Given the description of an element on the screen output the (x, y) to click on. 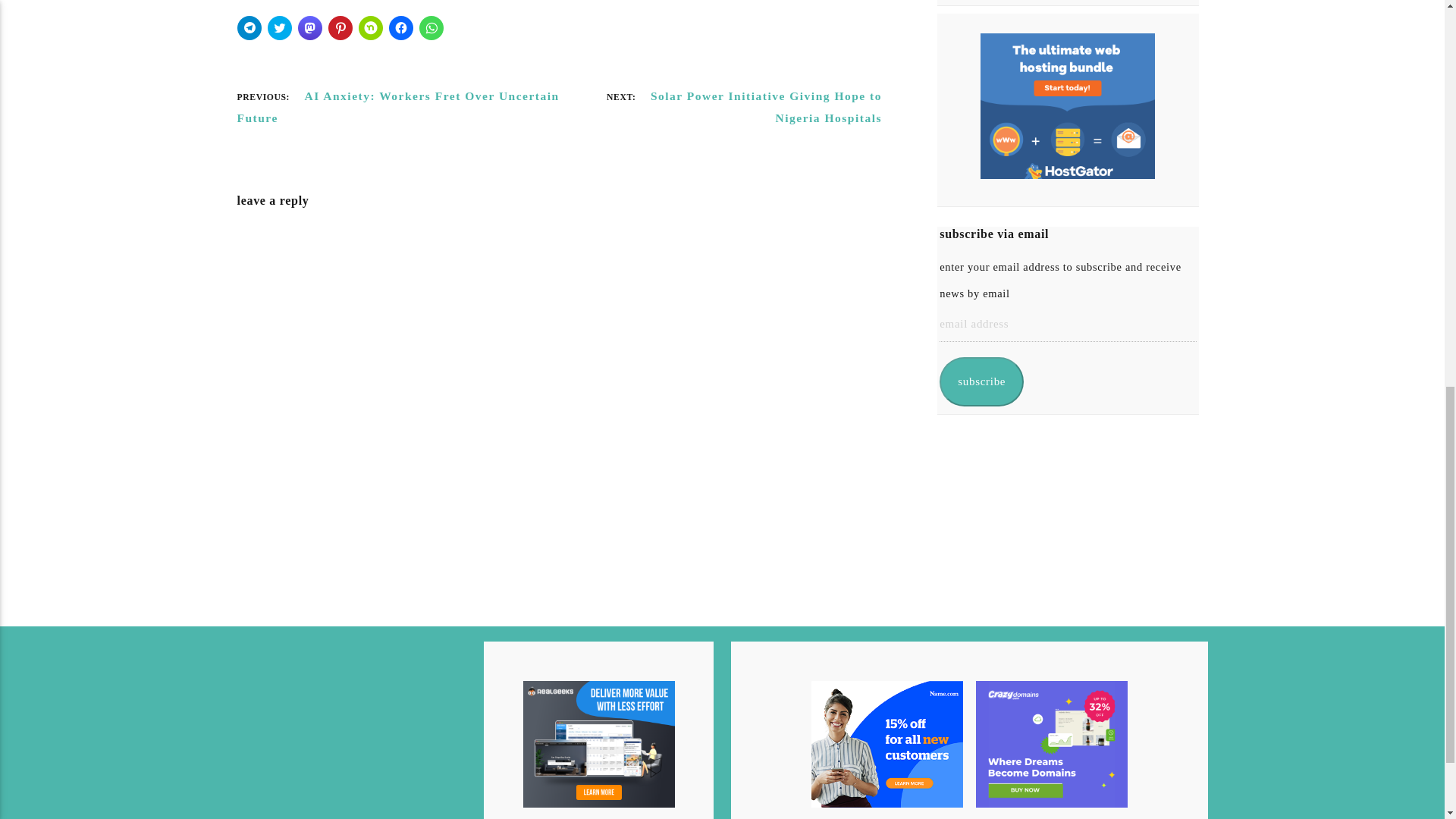
subscribe (981, 381)
PREVIOUS: AI Anxiety: Workers Fret Over Uncertain Future (397, 106)
Click to share on Telegram (247, 27)
Click to share on Pinterest (339, 27)
Click to share on Facebook (400, 27)
Click to share on Mastodon (309, 27)
Click to share on Twitter (278, 27)
Click to share on WhatsApp (430, 27)
